Given the description of an element on the screen output the (x, y) to click on. 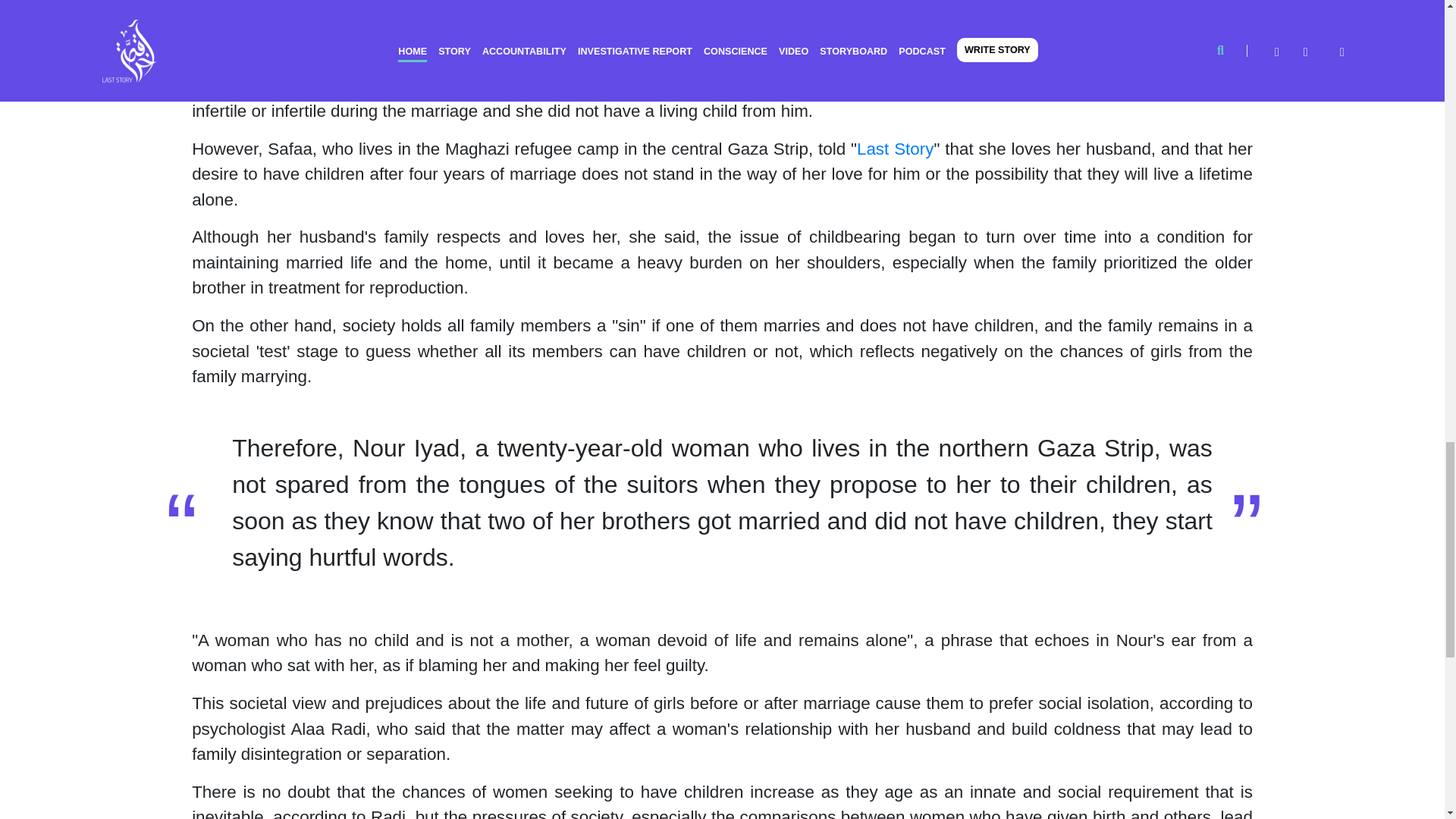
Last Story (895, 148)
